Given the description of an element on the screen output the (x, y) to click on. 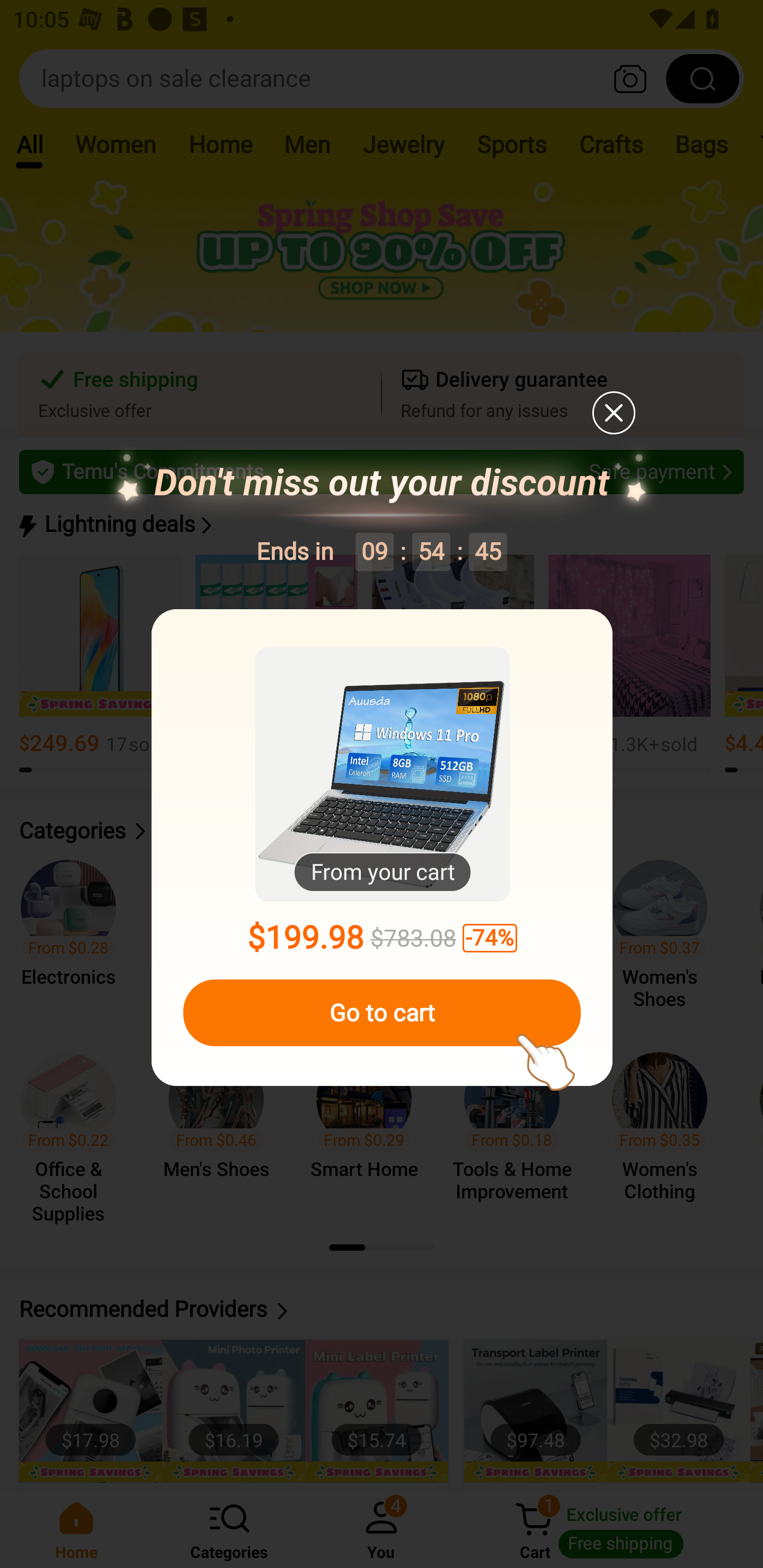
 (612, 412)
From your cart $199.98 $783.08 -74% Go to cart (381, 847)
Go to cart (381, 1012)
